Given the description of an element on the screen output the (x, y) to click on. 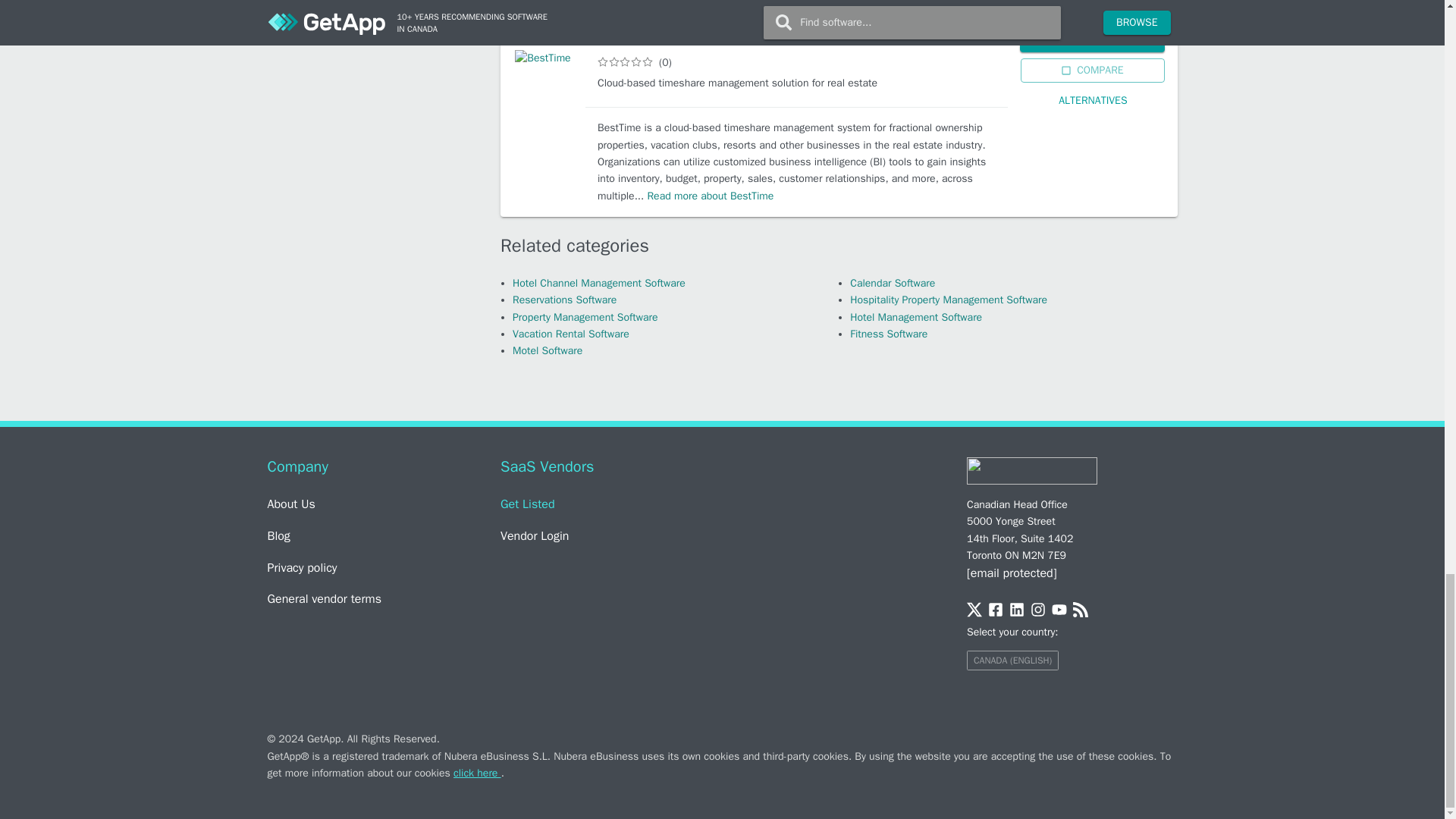
YouTube (1059, 610)
Instagram (1037, 610)
Facebook (995, 610)
Blog RSS (1080, 610)
Twitter (973, 610)
LinkedIn (1017, 610)
